Given the description of an element on the screen output the (x, y) to click on. 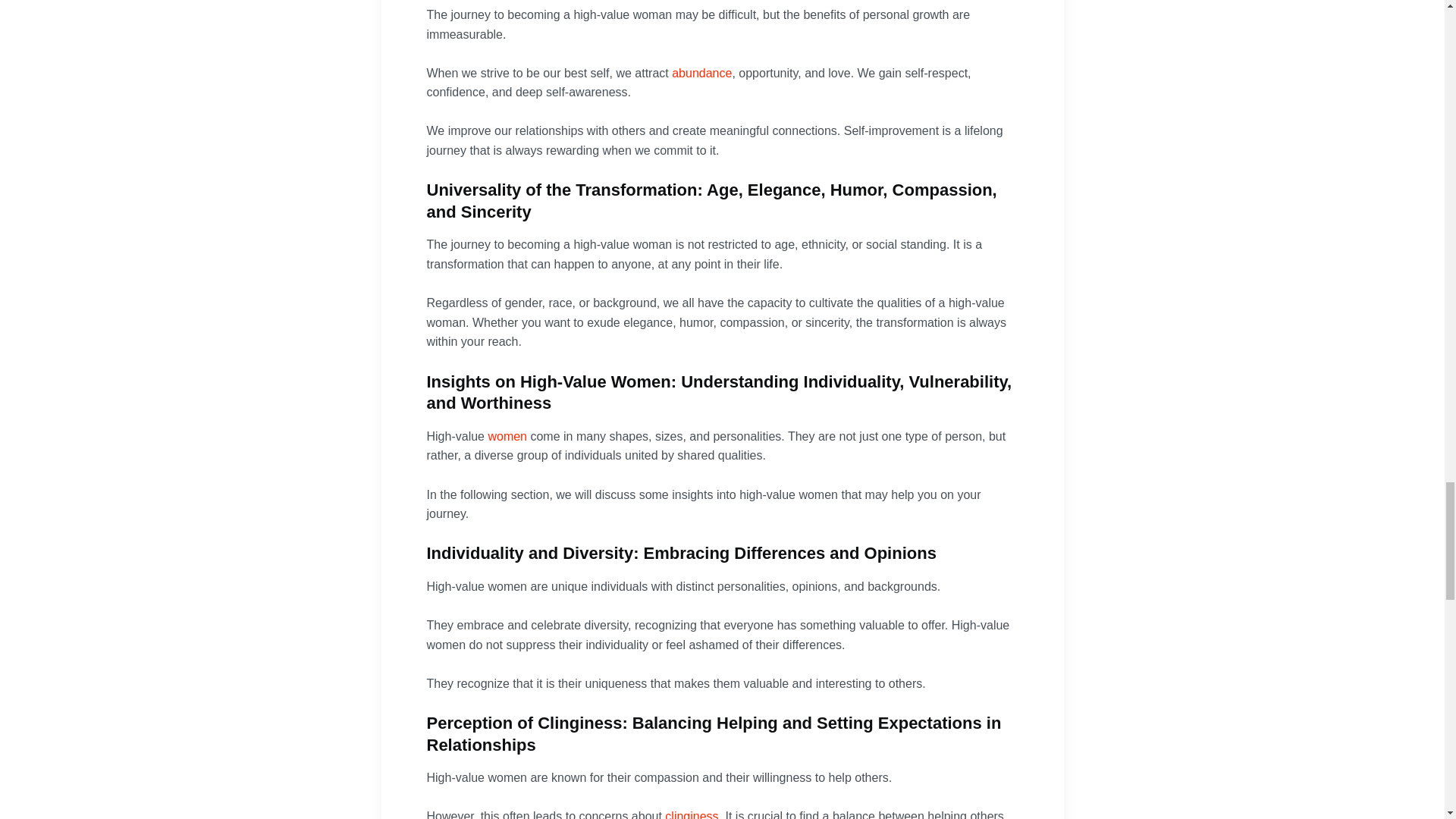
women (507, 436)
clinginess (691, 814)
abundance (701, 72)
